Given the description of an element on the screen output the (x, y) to click on. 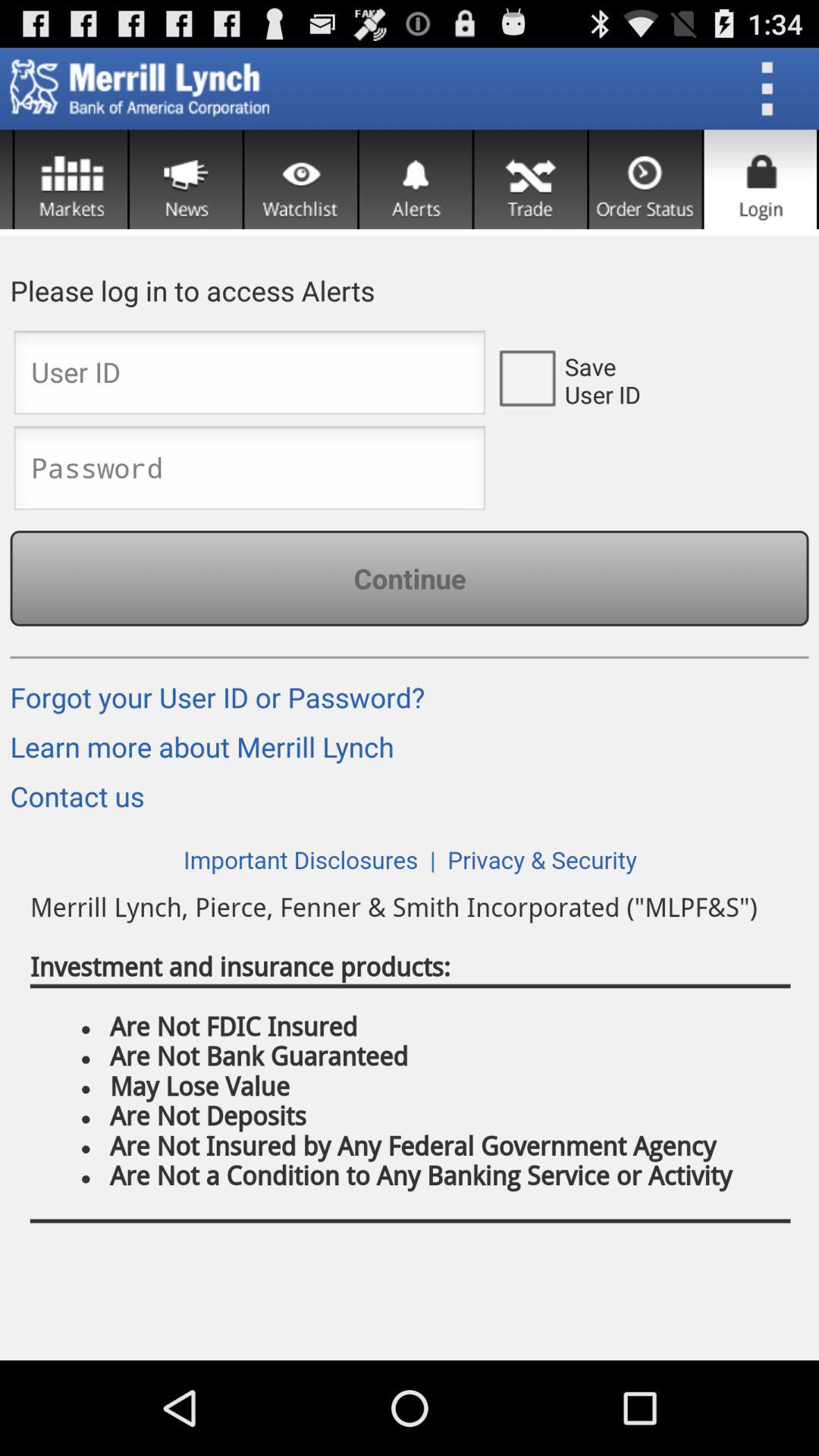
toggle order status section (645, 179)
